Given the description of an element on the screen output the (x, y) to click on. 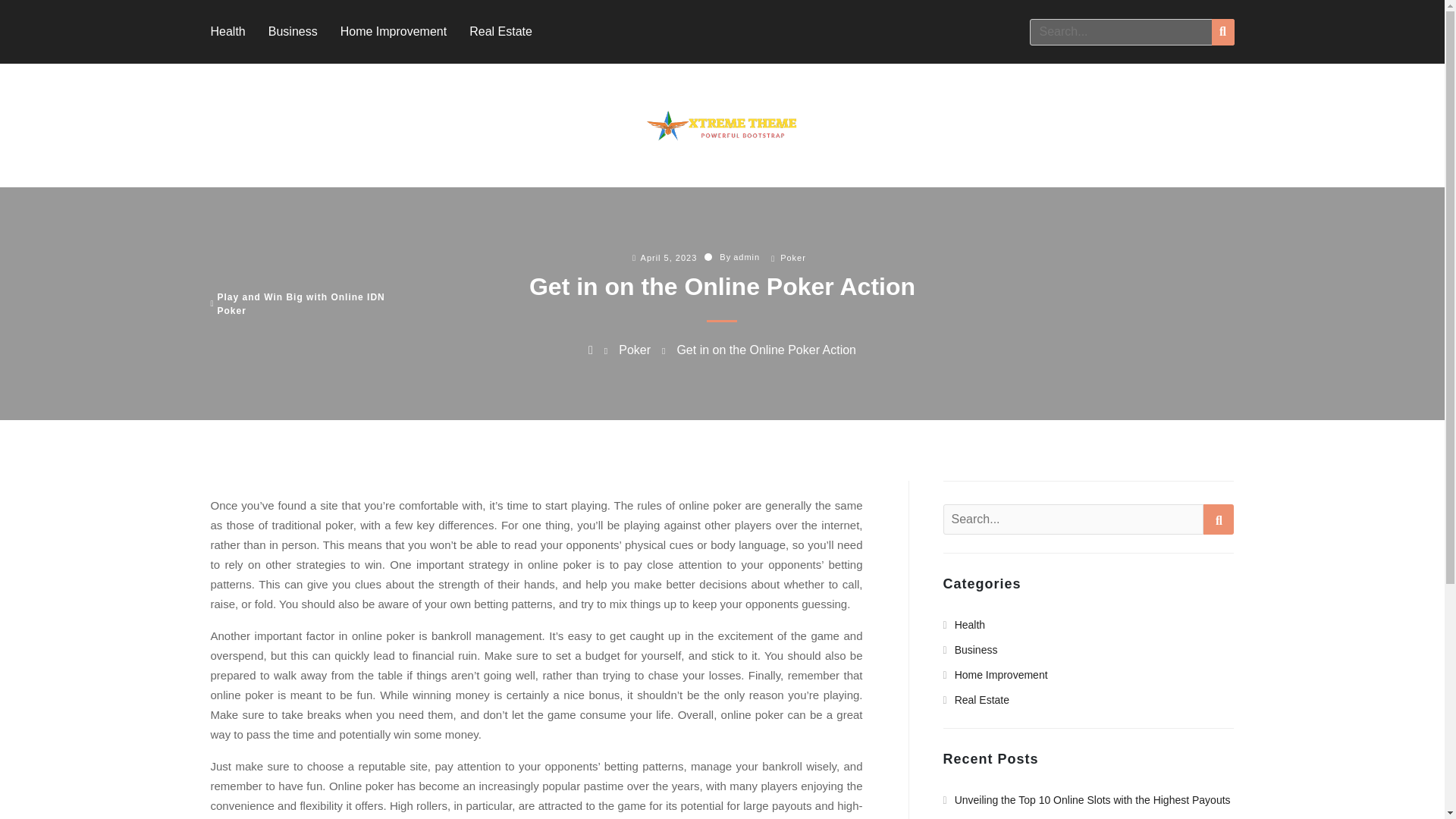
Real Estate (500, 31)
Play and Win Big with Online IDN Poker (315, 303)
Business (970, 649)
Search (1218, 519)
Poker (634, 349)
Business (292, 31)
Health (964, 624)
Home Improvement (995, 674)
Home Improvement (393, 31)
Health (228, 31)
